Given the description of an element on the screen output the (x, y) to click on. 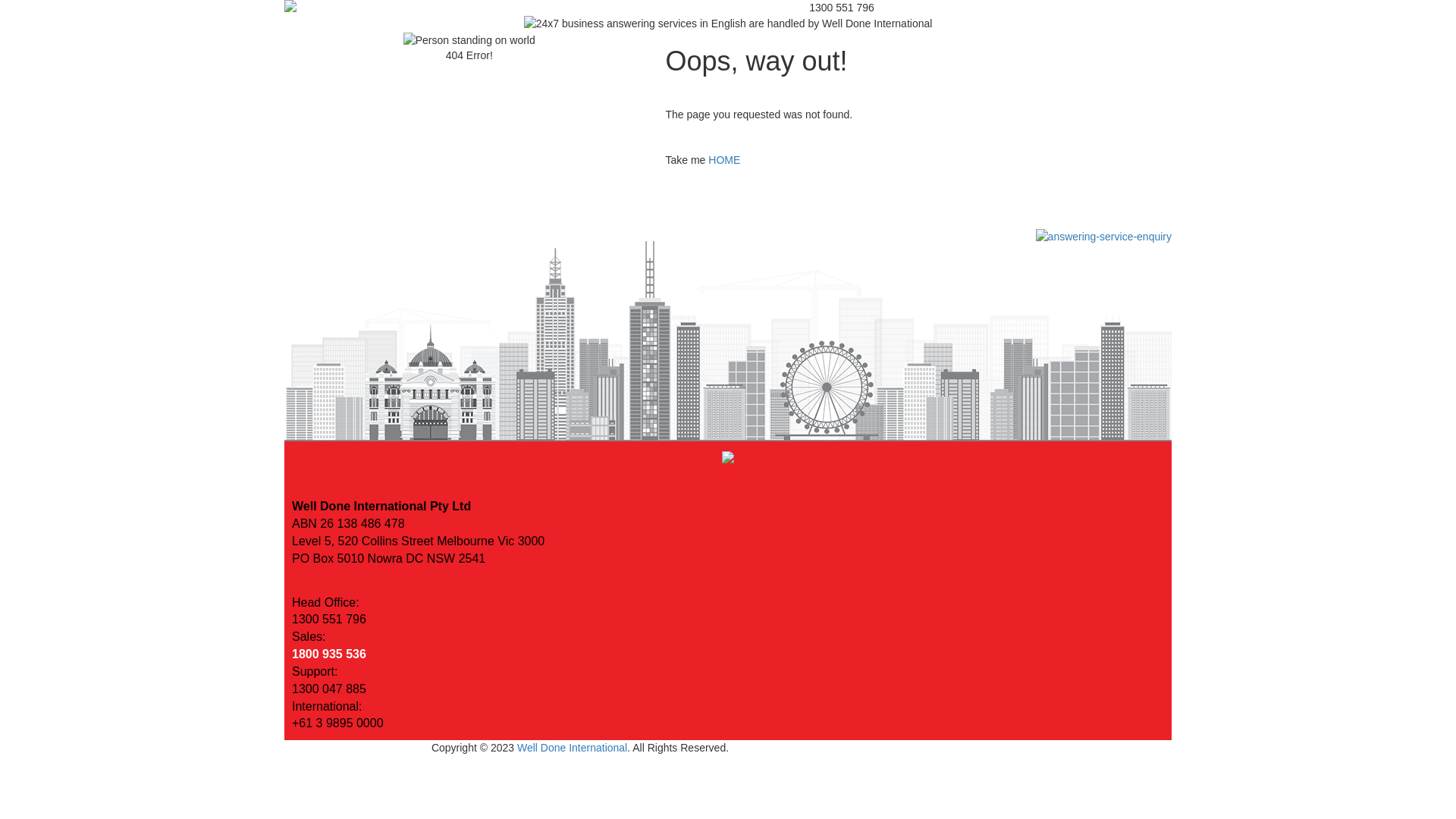
HOME Element type: text (724, 159)
Well Done International Element type: text (572, 747)
